Given the description of an element on the screen output the (x, y) to click on. 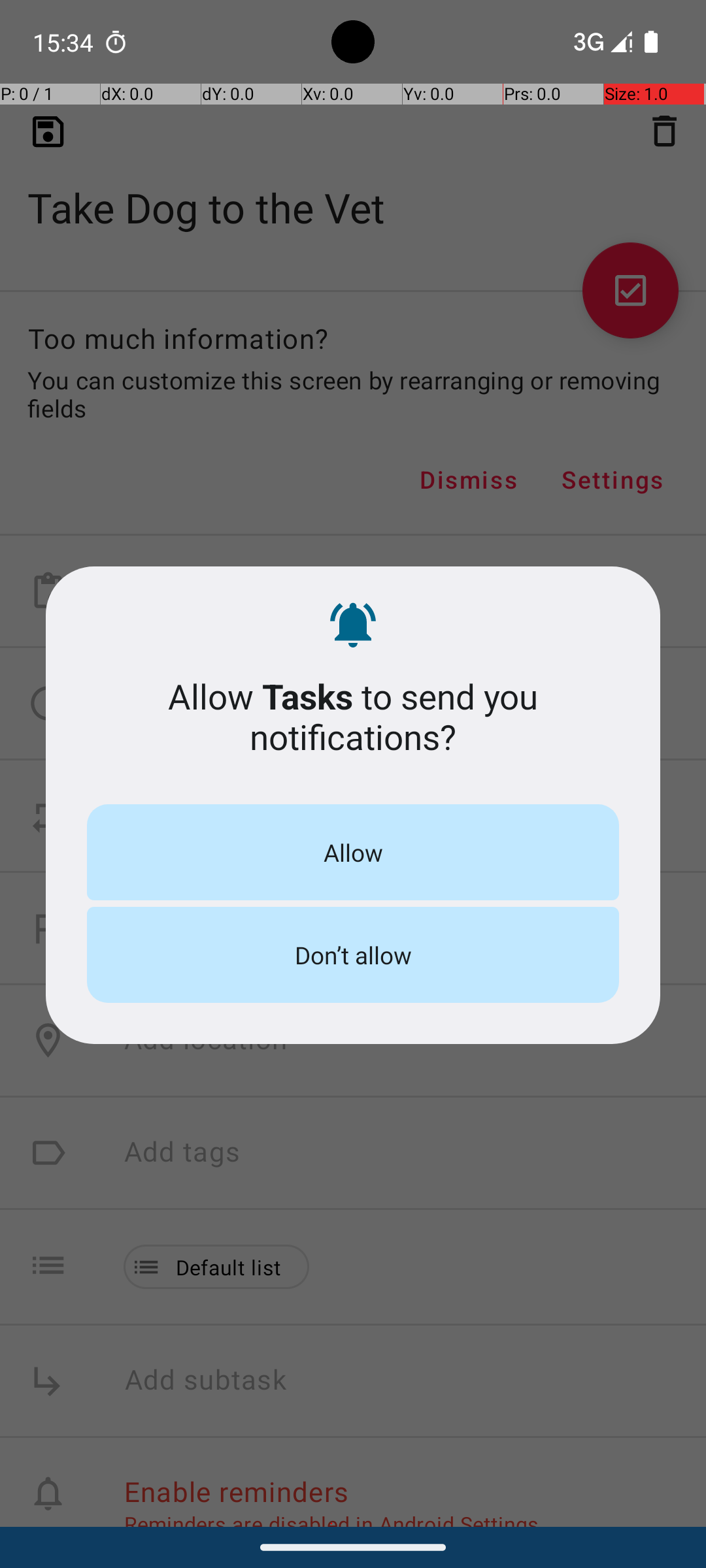
Allow Tasks to send you notifications? Element type: android.widget.TextView (352, 715)
